Given the description of an element on the screen output the (x, y) to click on. 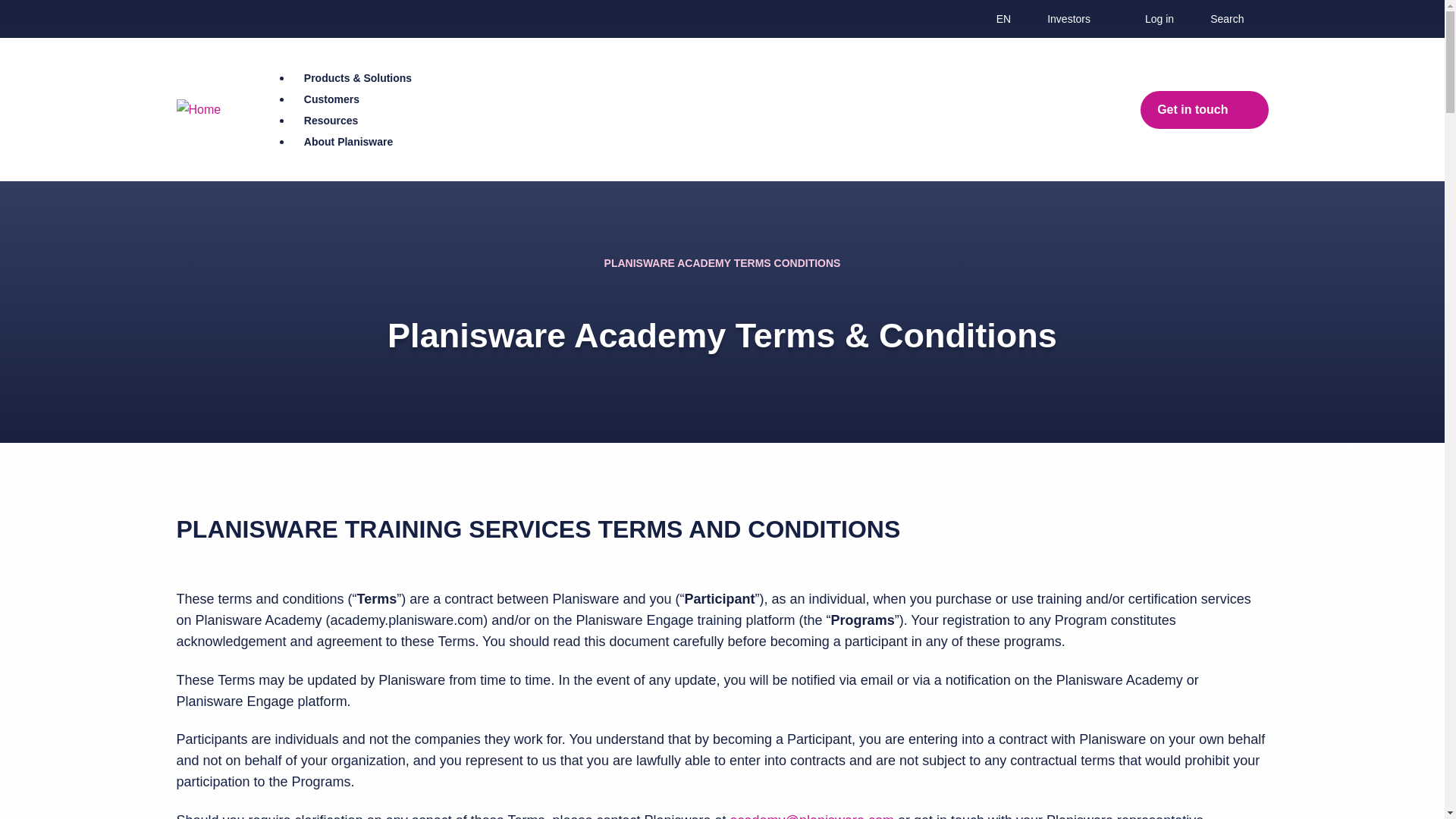
Customers (331, 99)
Log in (1165, 18)
Investors (1075, 18)
